Given the description of an element on the screen output the (x, y) to click on. 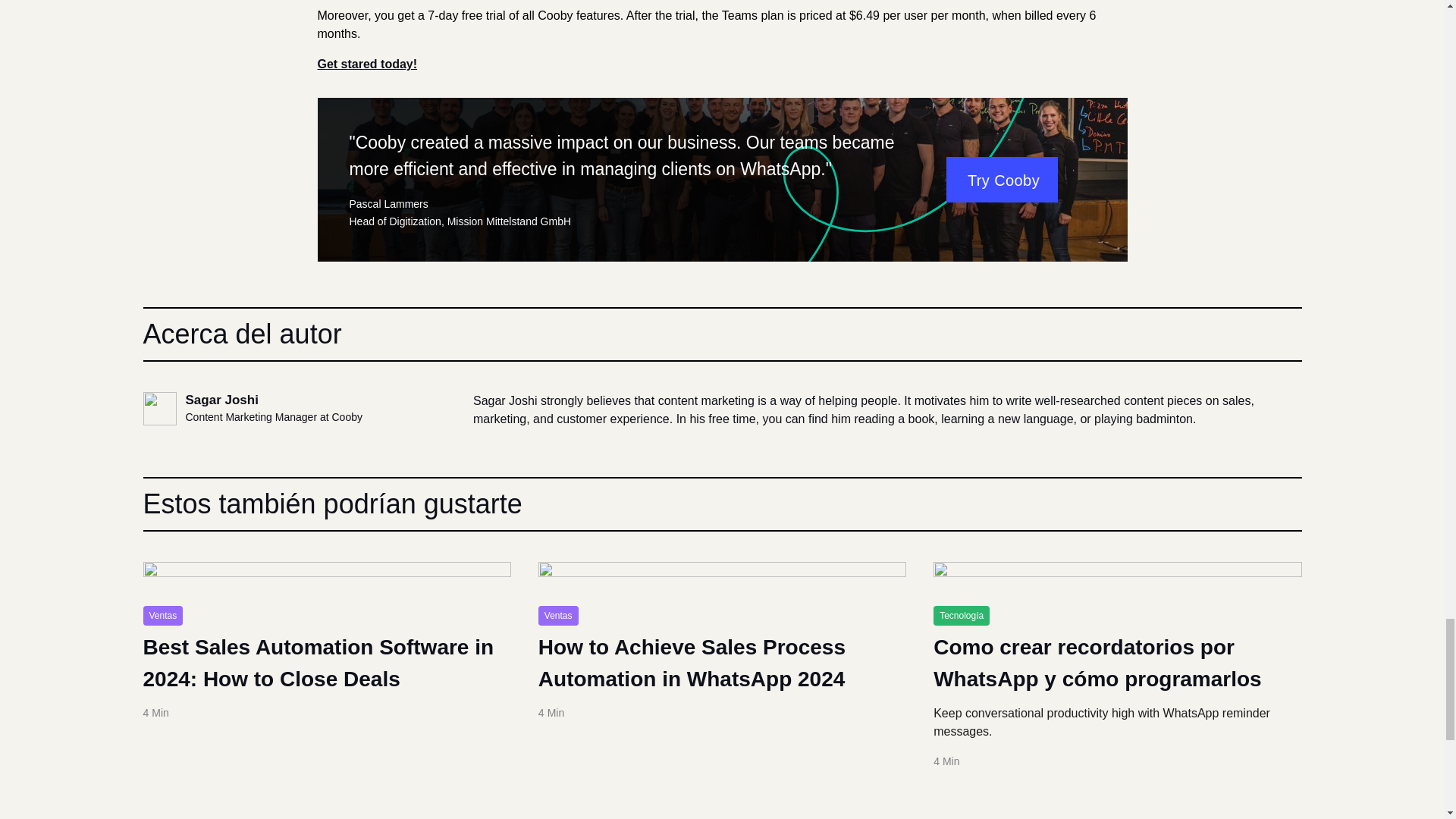
Try Cooby (1002, 179)
Get stared today! (366, 63)
